Given the description of an element on the screen output the (x, y) to click on. 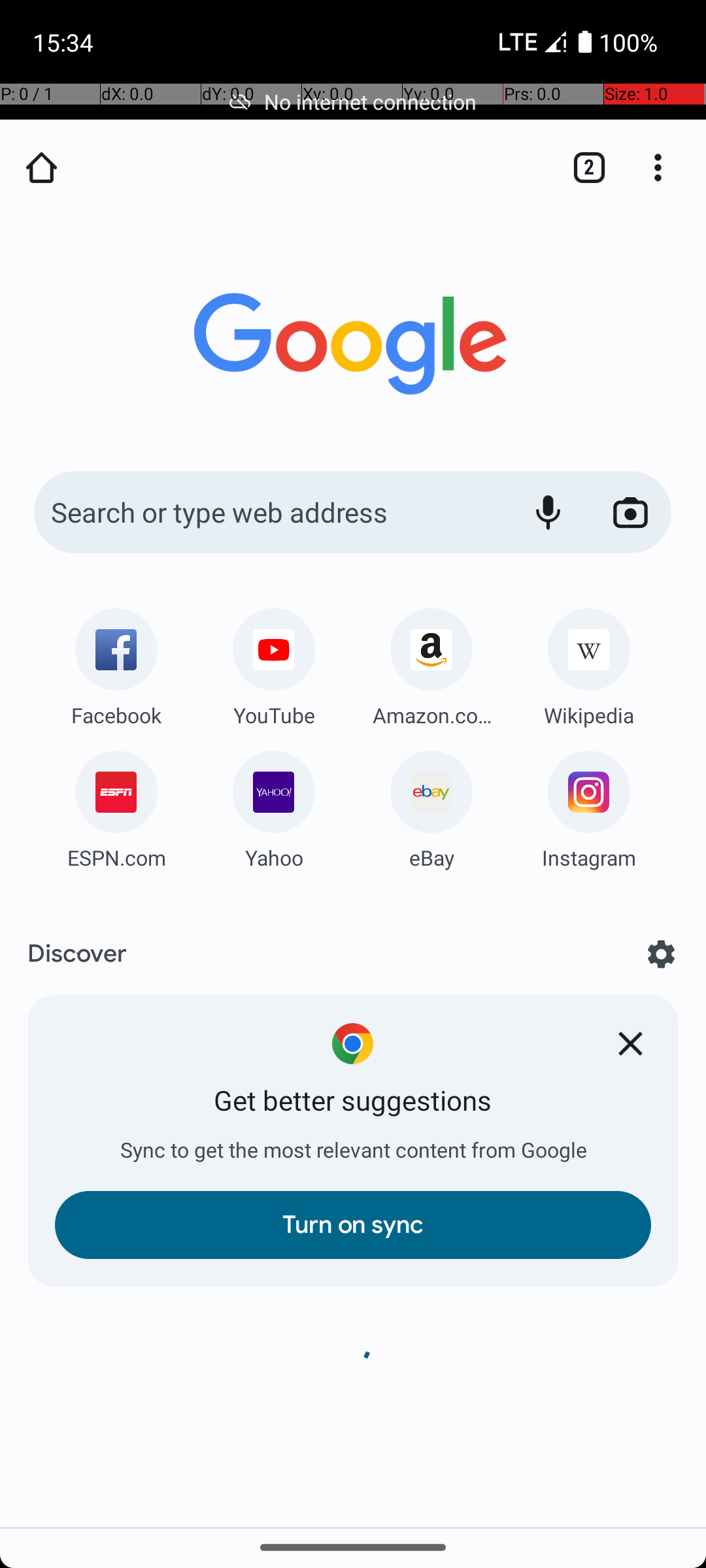
Get better suggestions Element type: android.widget.TextView (352, 1101)
Sync to get the most relevant content from Google Element type: android.widget.TextView (352, 1150)
Turn on sync Element type: android.widget.Button (352, 1224)
